Given the description of an element on the screen output the (x, y) to click on. 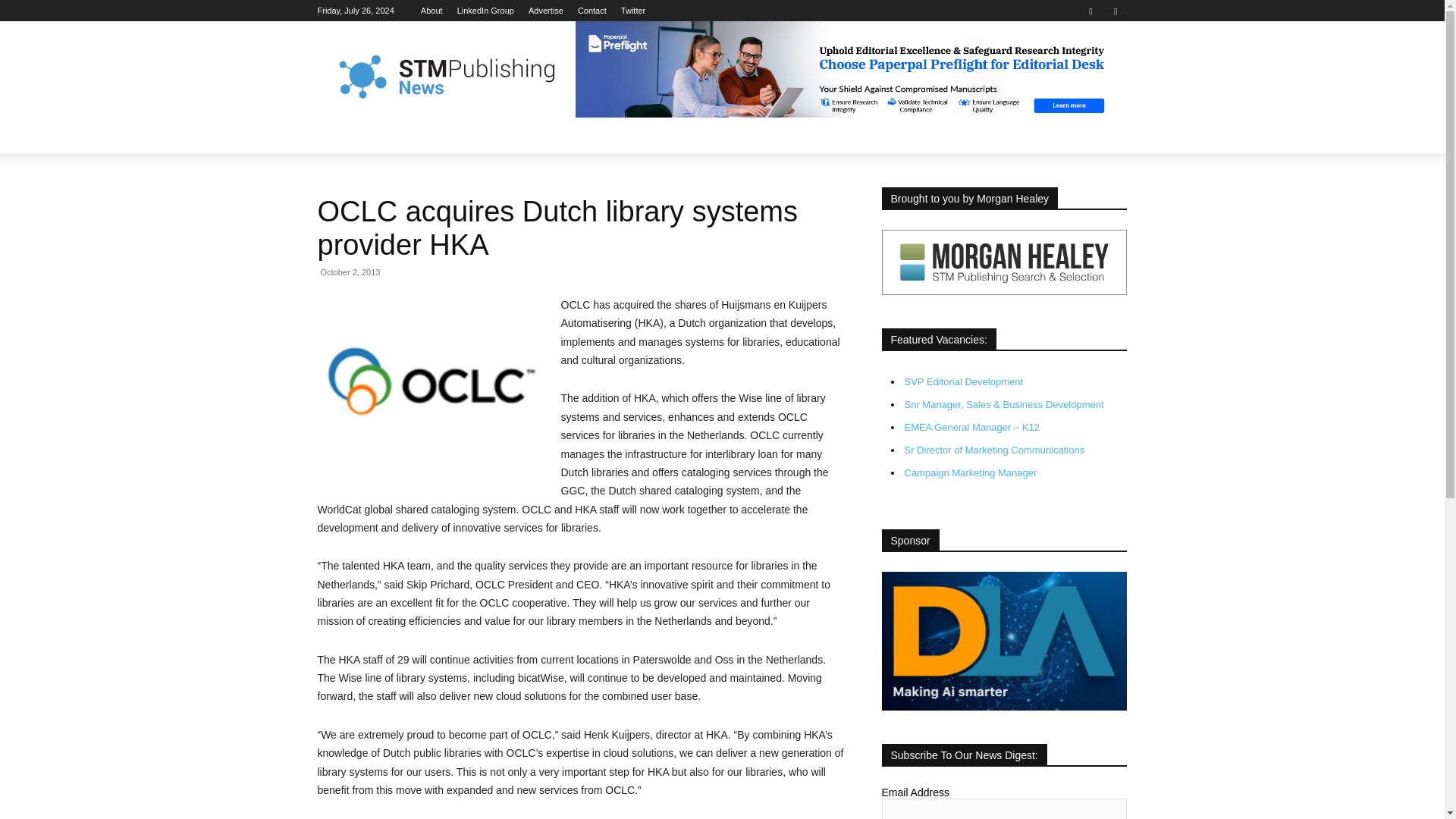
LinkedIn Group (485, 10)
Linkedin (1090, 10)
FEATURED (411, 135)
LinkedIn (485, 10)
Contact (592, 10)
Twitter (633, 10)
Advertise (545, 10)
About (431, 10)
HOME (342, 135)
Twitter (1114, 10)
